Given the description of an element on the screen output the (x, y) to click on. 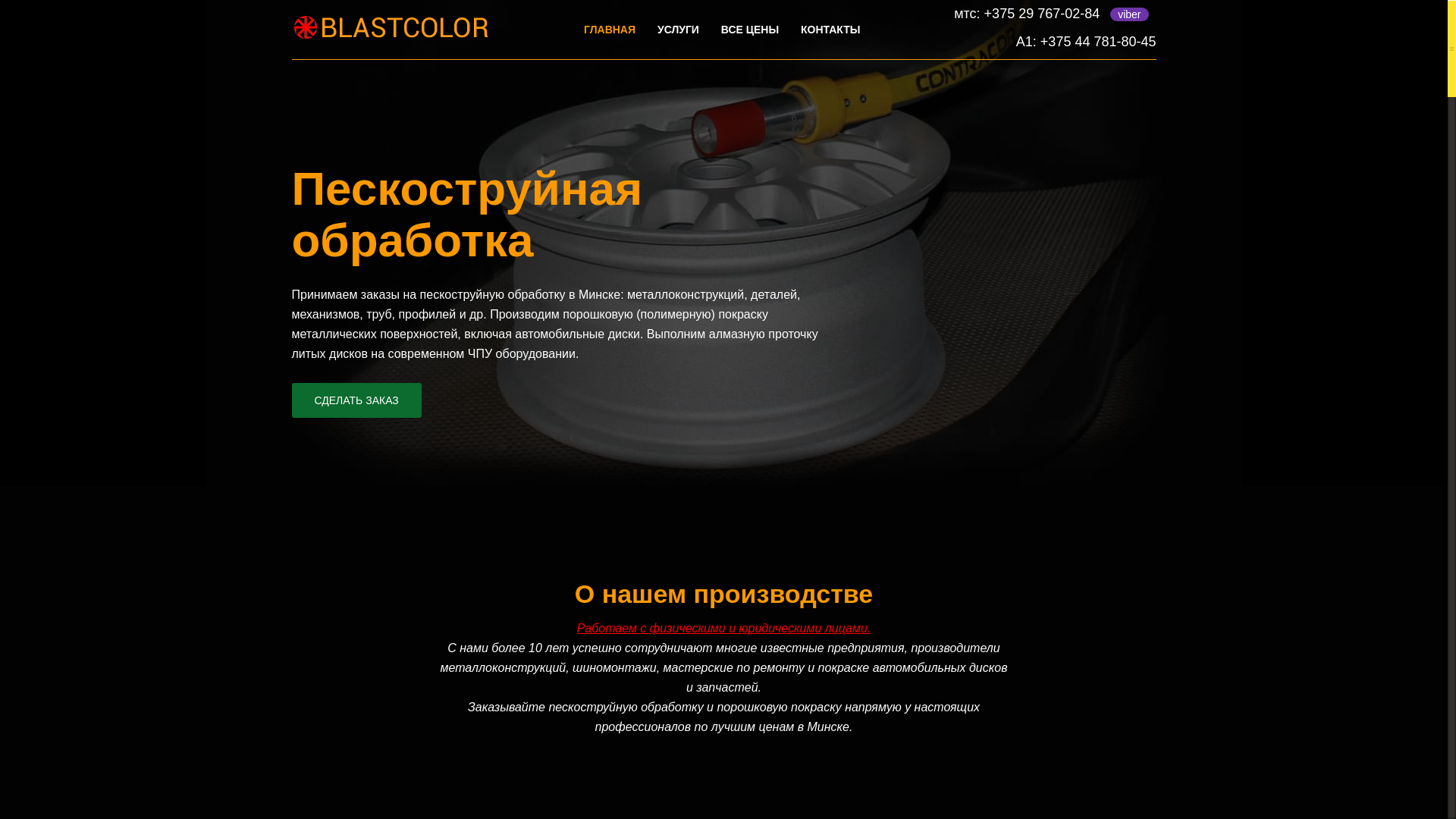
viber Element type: text (1129, 14)
